Given the description of an element on the screen output the (x, y) to click on. 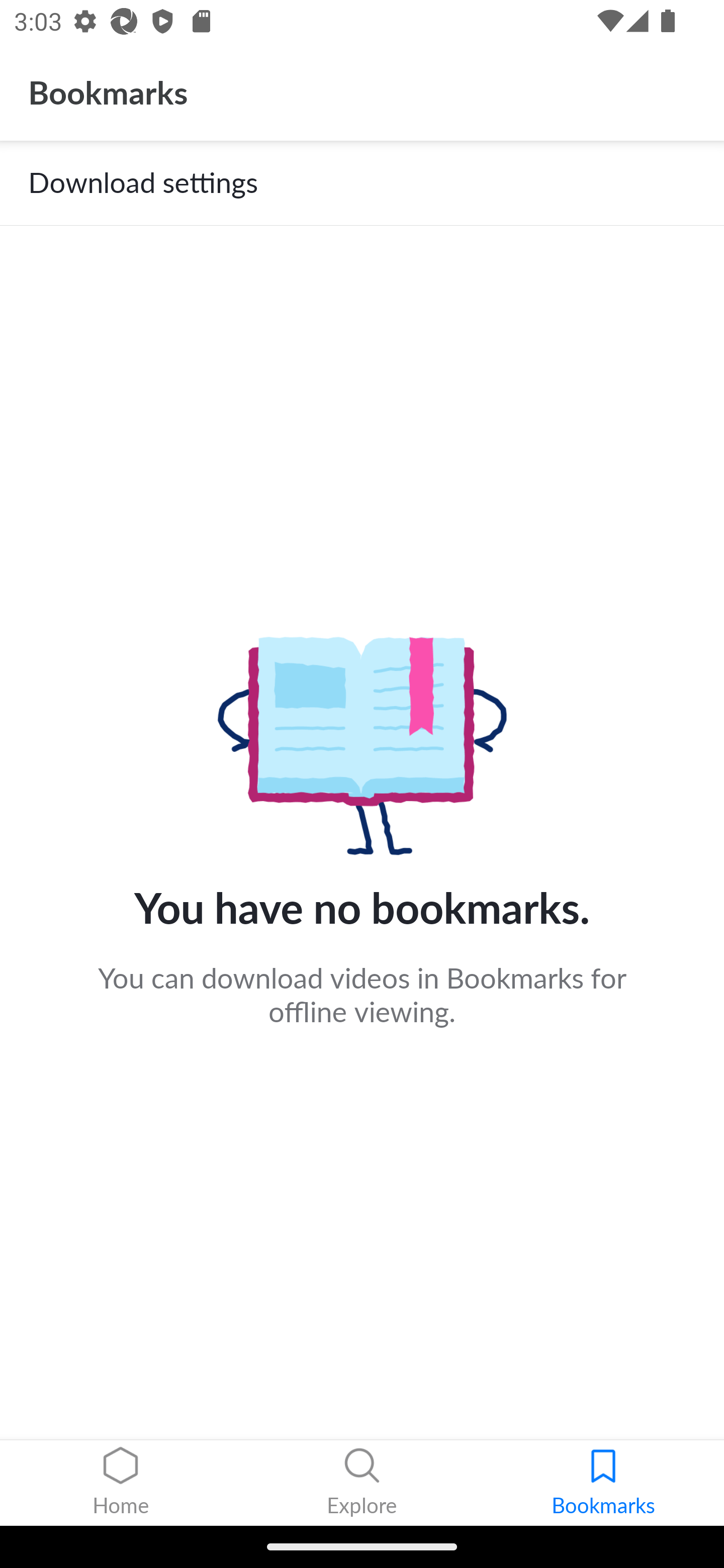
Download settings (362, 183)
Home (120, 1482)
Explore (361, 1482)
Bookmarks (603, 1482)
